Given the description of an element on the screen output the (x, y) to click on. 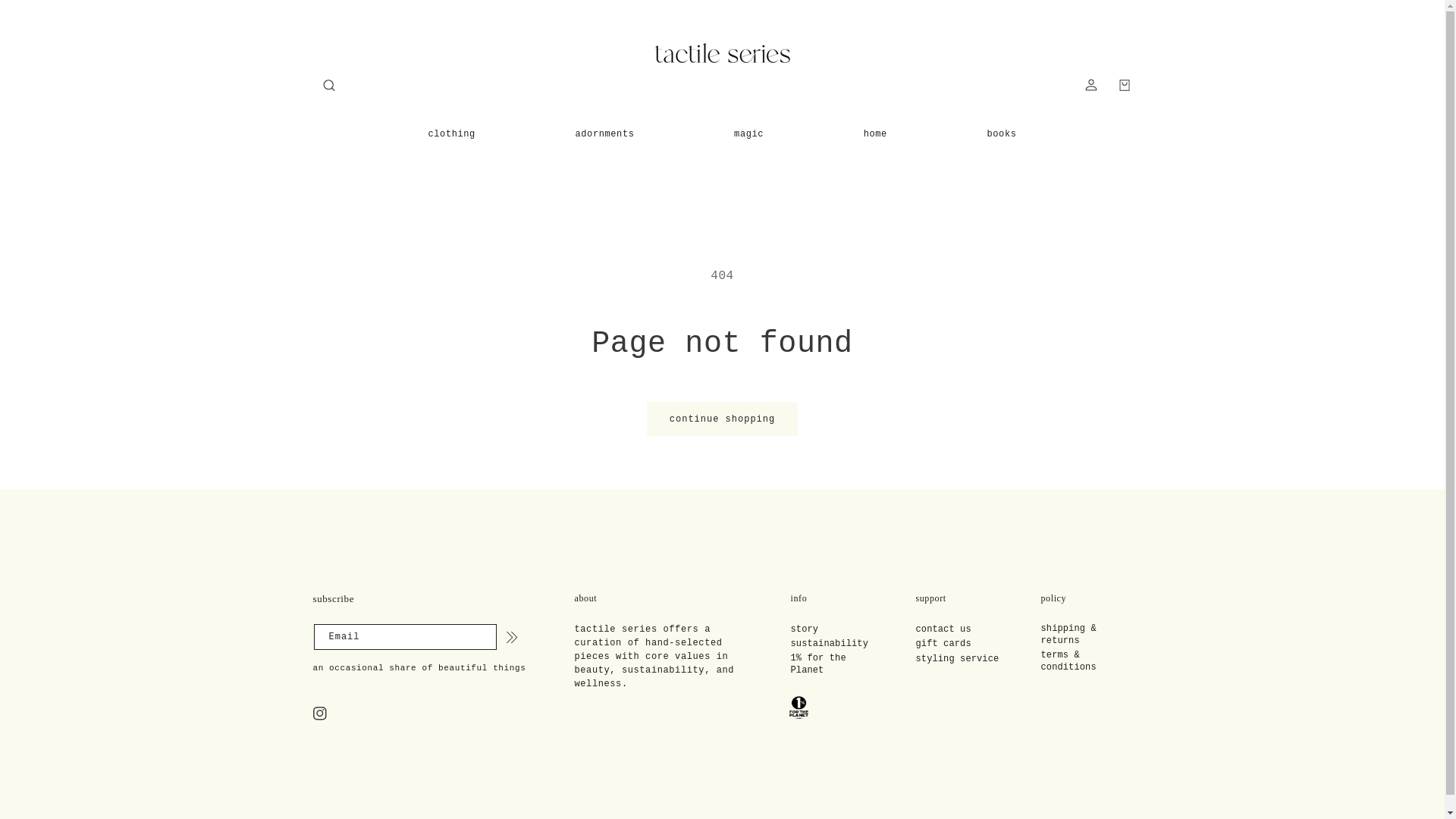
magic (749, 133)
Cart (1123, 84)
gift cards (943, 644)
skip to content (45, 16)
clothing (451, 133)
home (875, 133)
Log in (1090, 84)
adornments (604, 133)
continue shopping (721, 418)
styling service (956, 658)
